Given the description of an element on the screen output the (x, y) to click on. 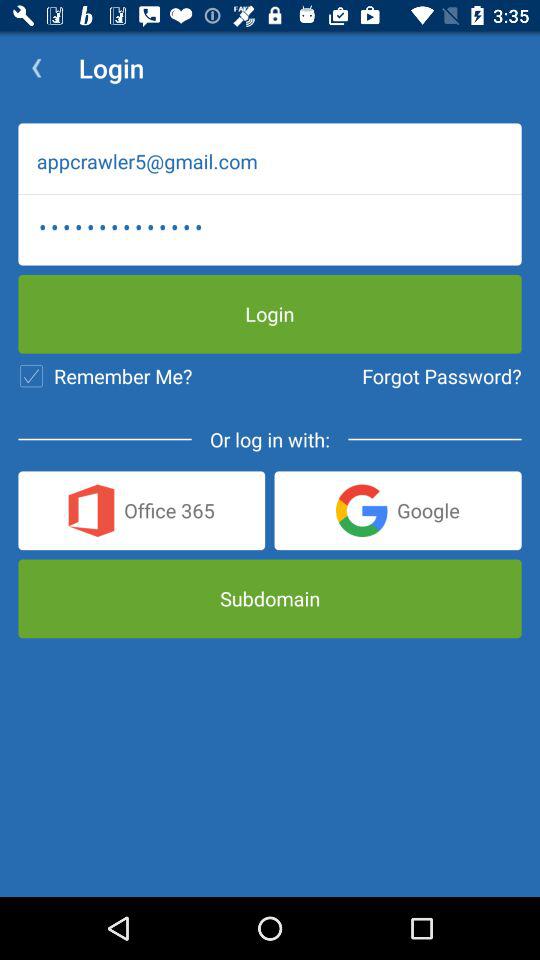
open item next to remember me? item (441, 376)
